Given the description of an element on the screen output the (x, y) to click on. 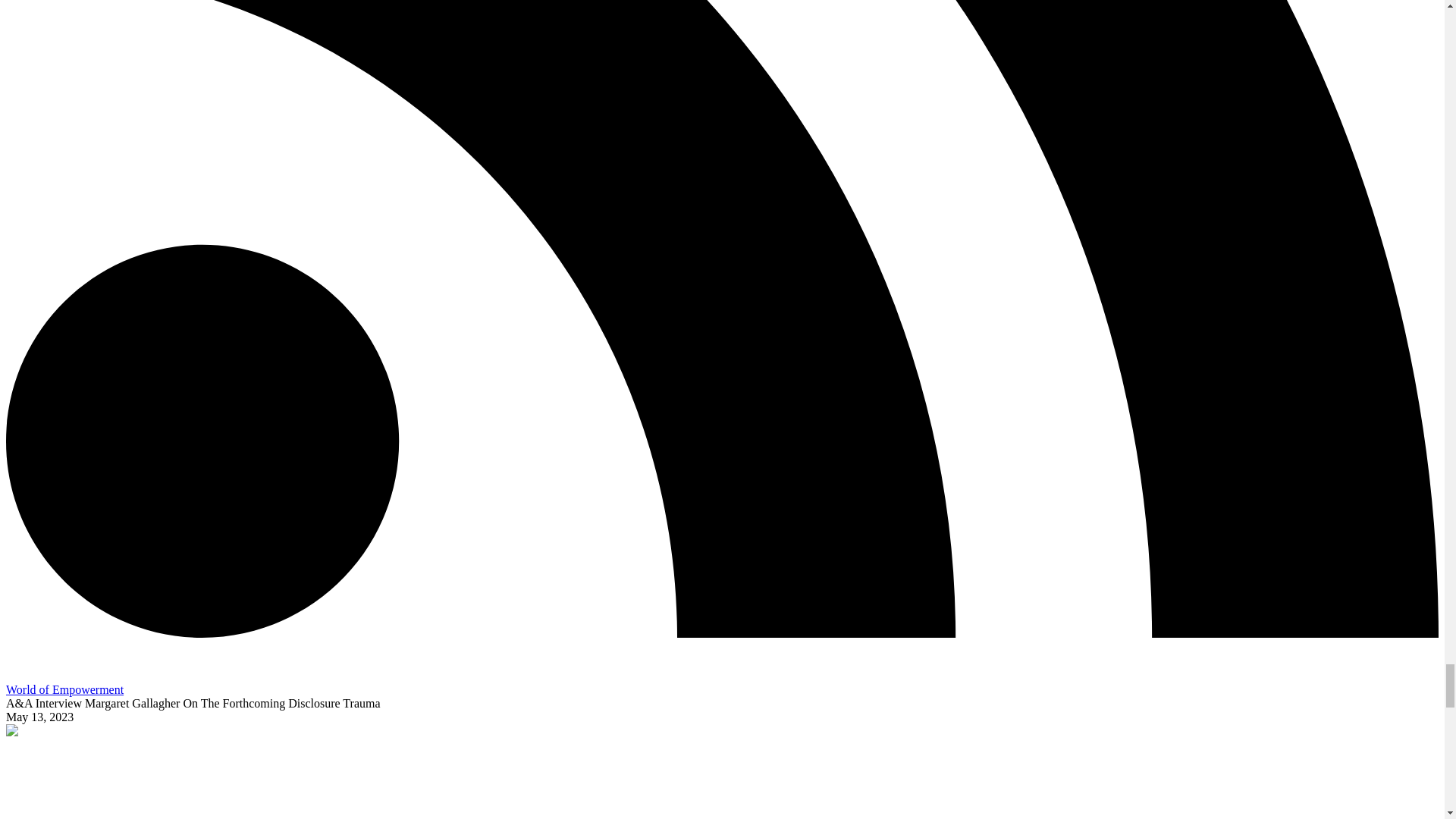
Record audio message (14, 675)
World of Empowerment (64, 689)
Record audio message (14, 670)
